Given the description of an element on the screen output the (x, y) to click on. 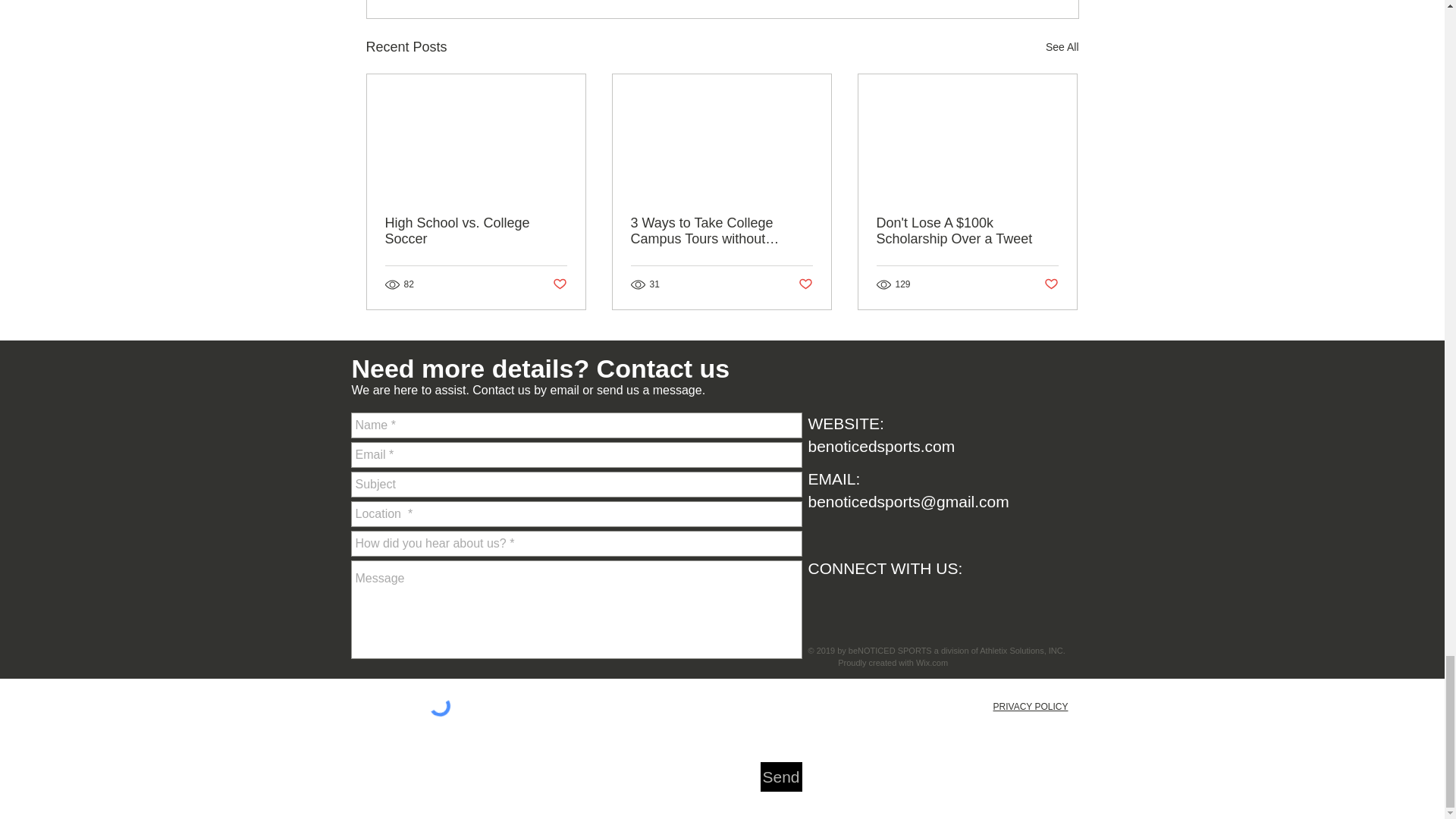
3 Ways to Take College Campus Tours without Traveling (721, 231)
Post not marked as liked (1050, 284)
Post not marked as liked (804, 284)
Post not marked as liked (558, 284)
High School vs. College Soccer (476, 231)
See All (1061, 47)
